Given the description of an element on the screen output the (x, y) to click on. 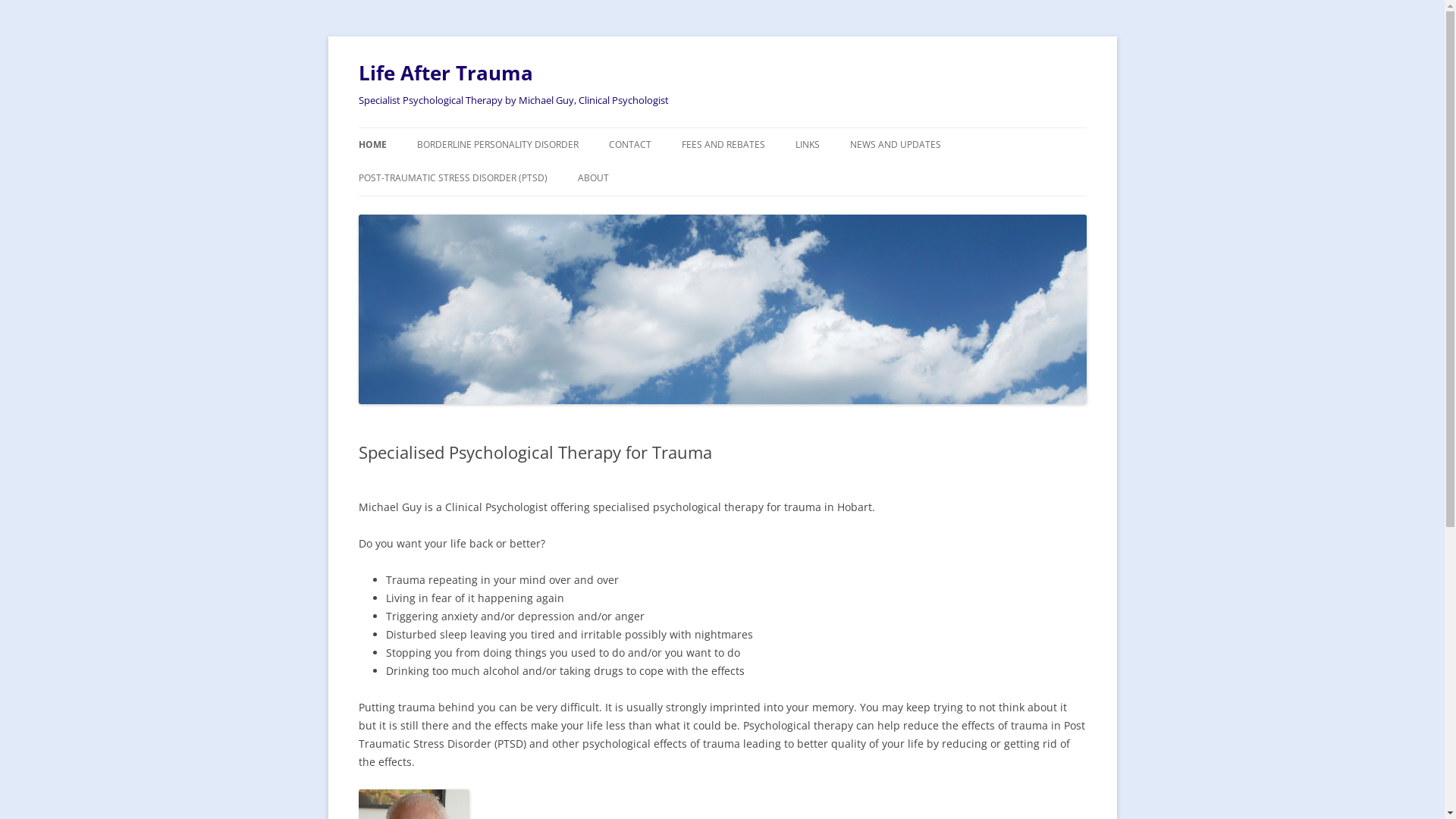
ABOUT Element type: text (592, 177)
NEWS AND UPDATES Element type: text (894, 144)
BORDERLINE PERSONALITY DISORDER Element type: text (497, 144)
FEES AND REBATES Element type: text (722, 144)
CONTACT Element type: text (629, 144)
Skip to content Element type: text (759, 132)
HOME Element type: text (371, 144)
POST-TRAUMATIC STRESS DISORDER (PTSD) Element type: text (451, 177)
Life After Trauma Element type: text (444, 72)
LINKS Element type: text (806, 144)
